Given the description of an element on the screen output the (x, y) to click on. 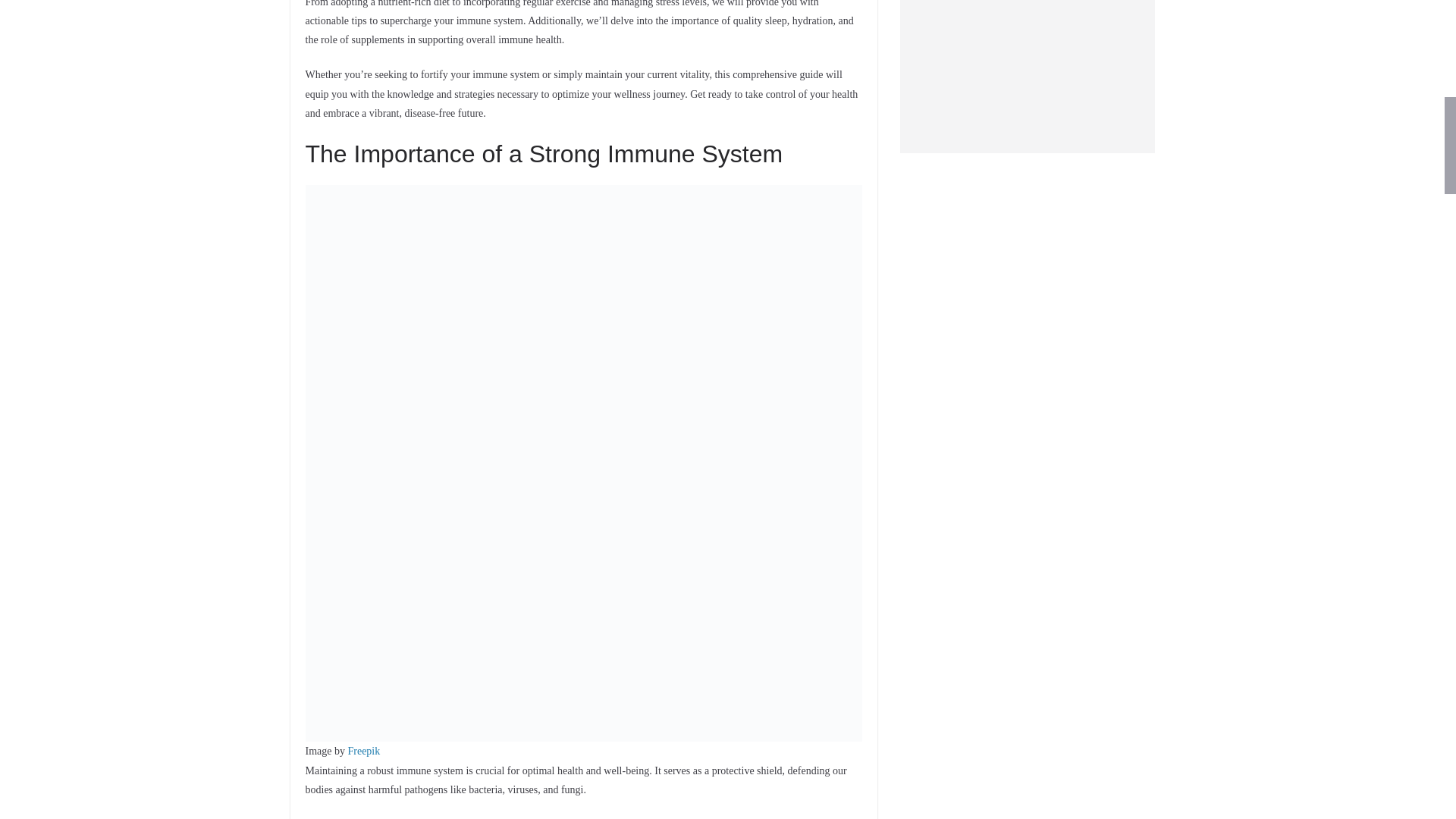
Freepik (363, 750)
